Given the description of an element on the screen output the (x, y) to click on. 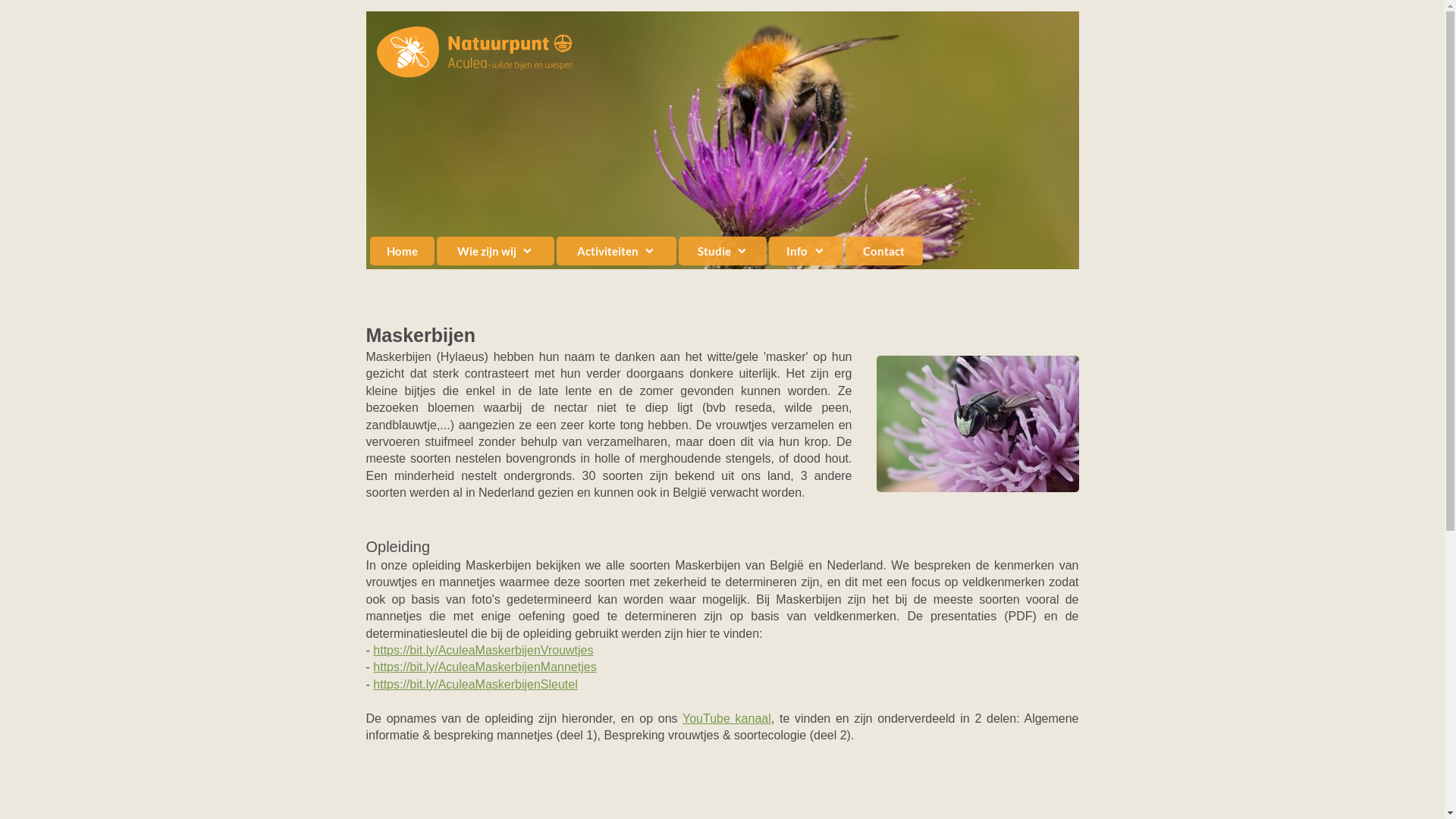
  Element type: text (721, 18)
Contact Element type: text (883, 250)
https://bit.ly/AculeaMaskerbijenSleutel Element type: text (475, 683)
Info Element type: text (805, 250)
Home Element type: text (402, 250)
https://bit.ly/AculeaMaskerbijenMannetjes Element type: text (484, 666)
YouTube kanaal Element type: text (726, 718)
Wie zijn wij Element type: text (495, 250)
Activiteiten Element type: text (616, 250)
Studie Element type: text (722, 250)
https://bit.ly/AculeaMaskerbijenVrouwtjes Element type: text (483, 649)
